Given the description of an element on the screen output the (x, y) to click on. 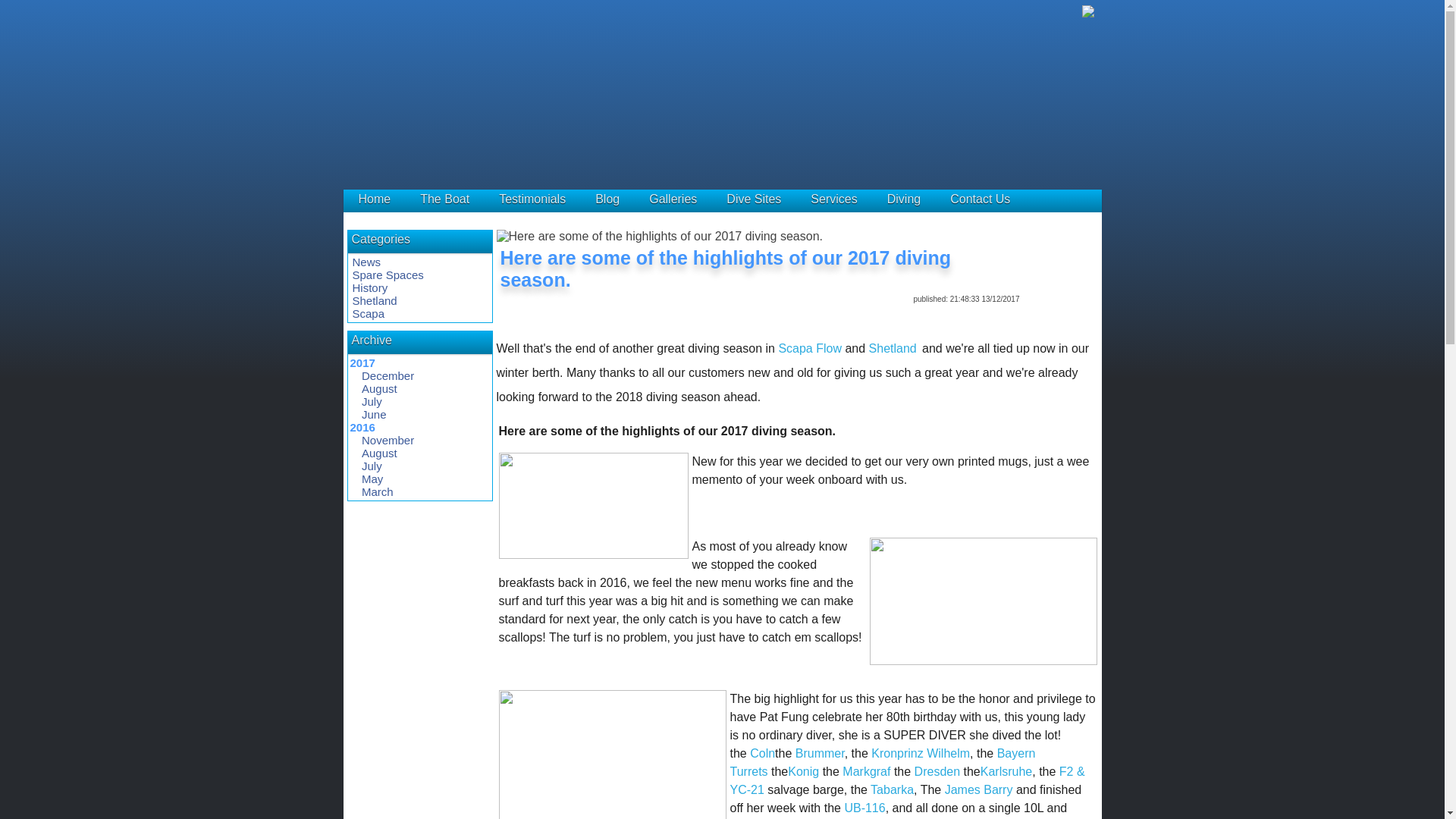
July (371, 465)
August (379, 388)
Testimonials (532, 198)
Scapa Flow (809, 348)
December (387, 375)
Dive Sites (753, 198)
The Boat (444, 198)
May (371, 478)
Services (833, 198)
Coln (761, 753)
March (377, 491)
Galleries (673, 198)
August (379, 452)
Shetland (374, 300)
History (369, 287)
